Given the description of an element on the screen output the (x, y) to click on. 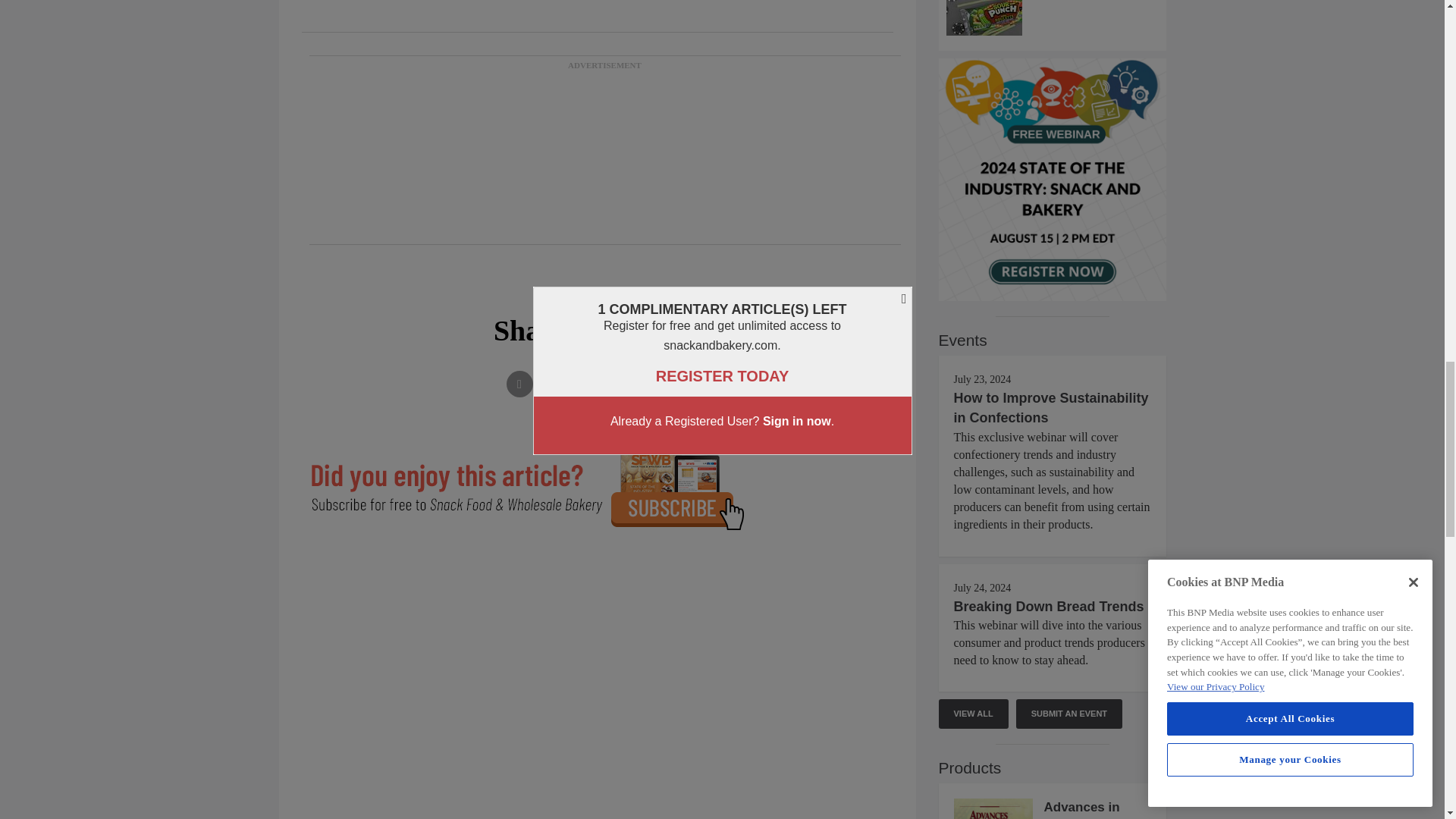
Breaking Down Bread Trends (1048, 606)
How to Improve Sustainability in Confections (1050, 407)
Pickle Roulette: Best New Product of 2023 (1052, 18)
